Given the description of an element on the screen output the (x, y) to click on. 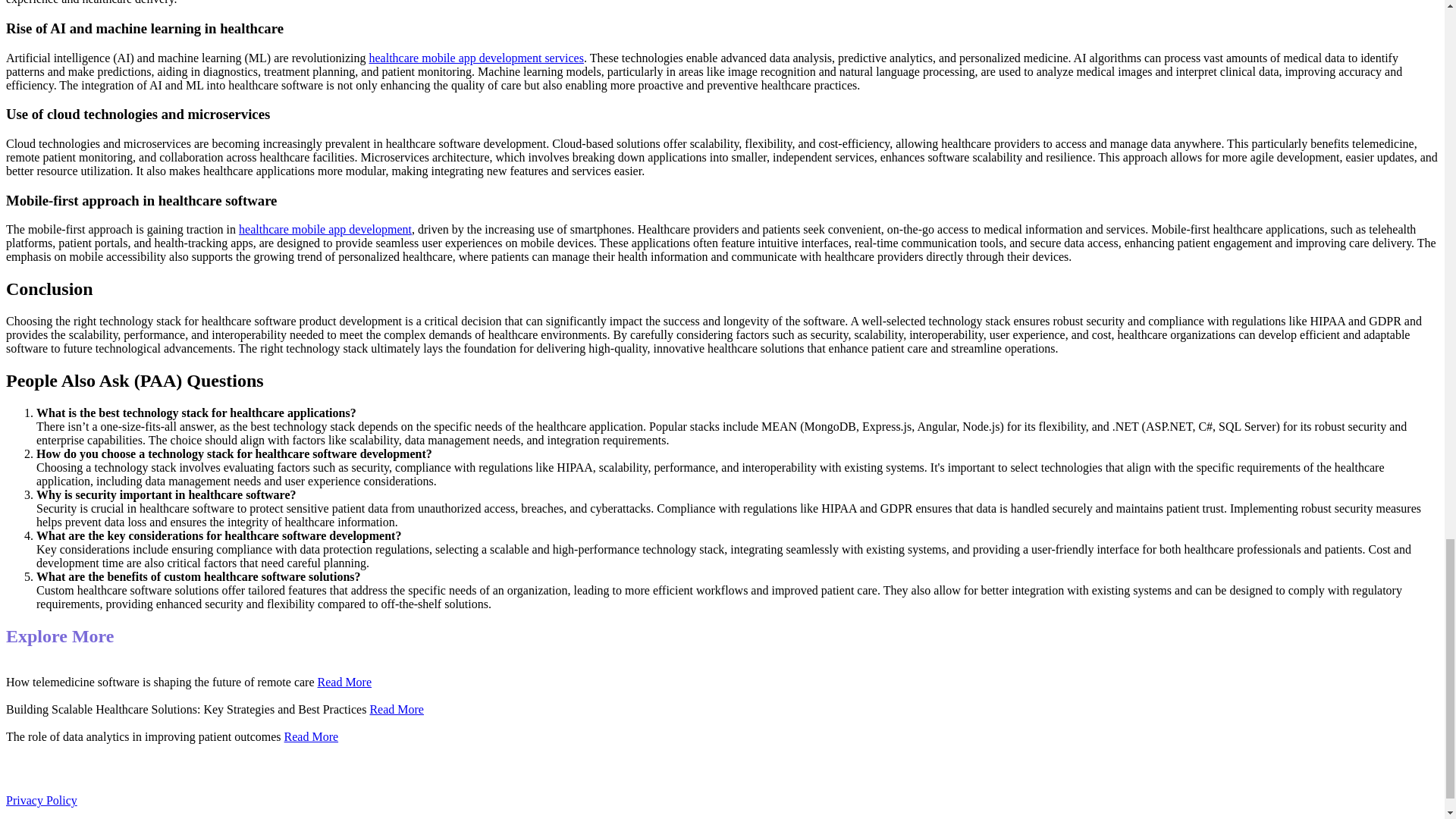
Read More (344, 681)
Read More (396, 708)
healthcare mobile app development services (475, 57)
healthcare mobile app development (325, 228)
Read More (311, 736)
